Given the description of an element on the screen output the (x, y) to click on. 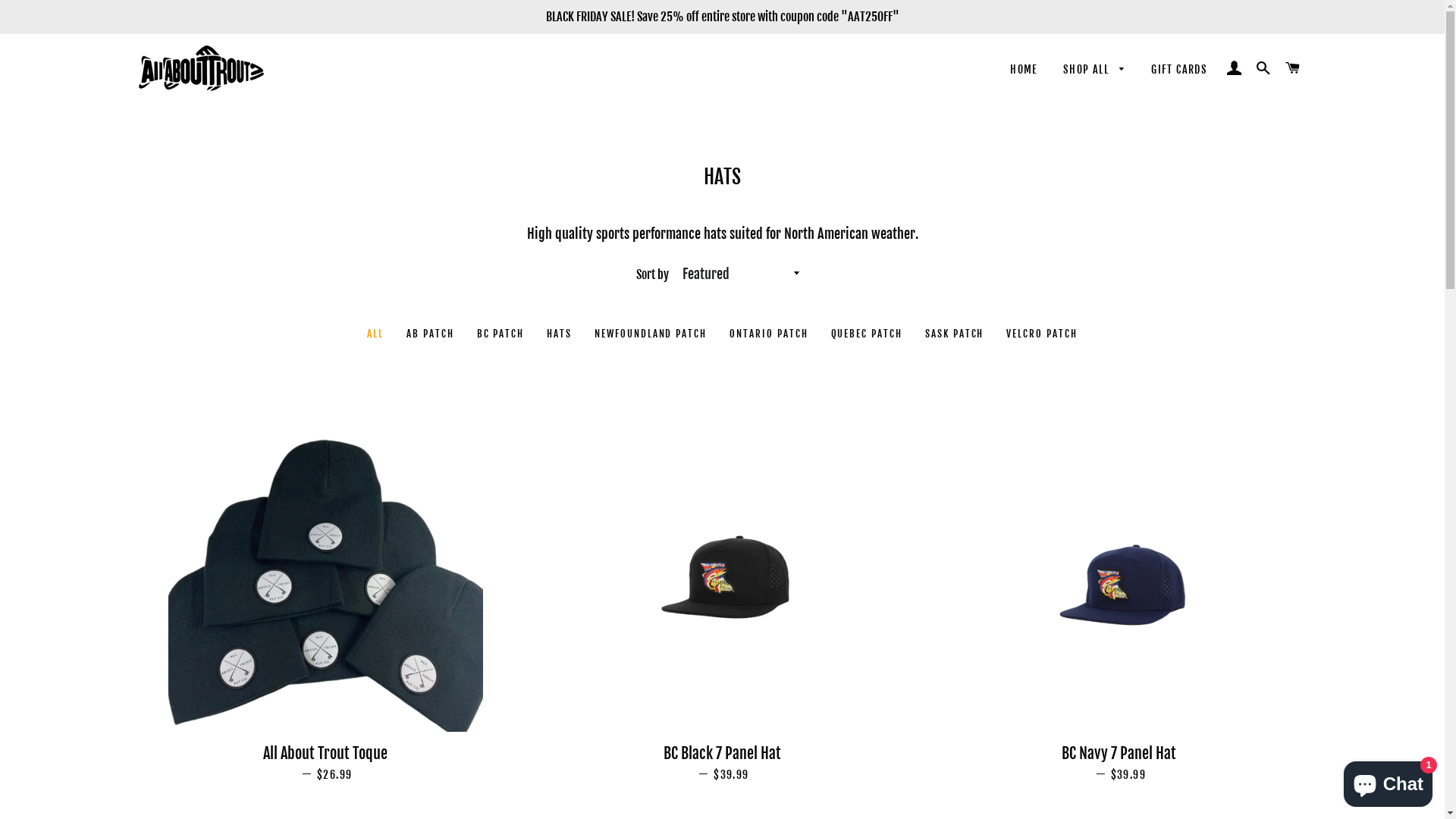
HOME Element type: text (1023, 69)
Shopify online store chat Element type: hover (1388, 780)
SASK PATCH Element type: text (954, 333)
QUEBEC PATCH Element type: text (866, 333)
LOG IN Element type: text (1233, 68)
ONTARIO PATCH Element type: text (768, 333)
VELCRO PATCH Element type: text (1041, 333)
AB PATCH Element type: text (430, 333)
HATS Element type: text (559, 333)
ALL Element type: text (375, 333)
BC PATCH Element type: text (500, 333)
GIFT CARDS Element type: text (1178, 69)
NEWFOUNDLAND PATCH Element type: text (650, 333)
SEARCH Element type: text (1263, 68)
SHOP ALL Element type: text (1094, 69)
CART Element type: text (1292, 68)
